Given the description of an element on the screen output the (x, y) to click on. 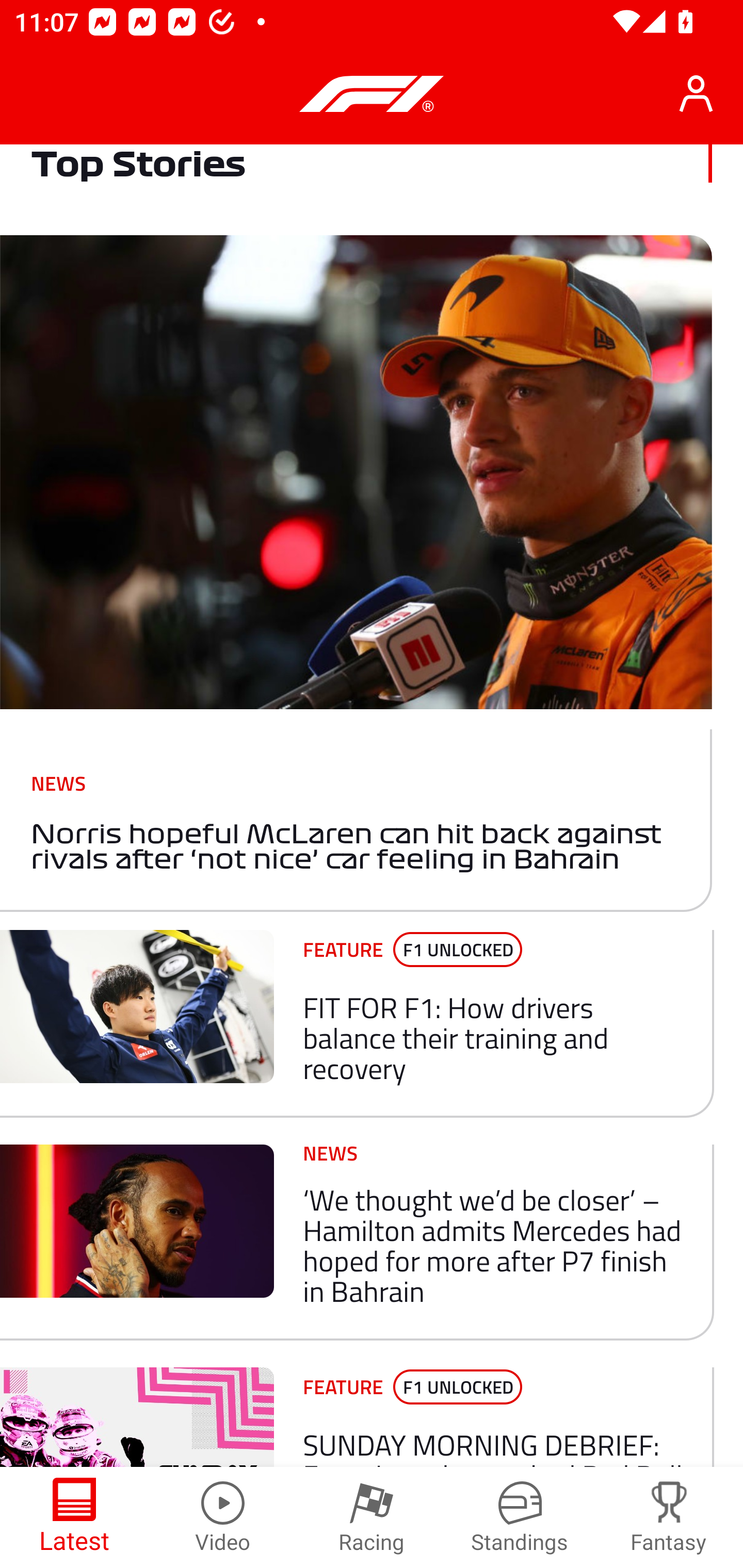
Video (222, 1517)
Racing (371, 1517)
Standings (519, 1517)
Fantasy (668, 1517)
